Given the description of an element on the screen output the (x, y) to click on. 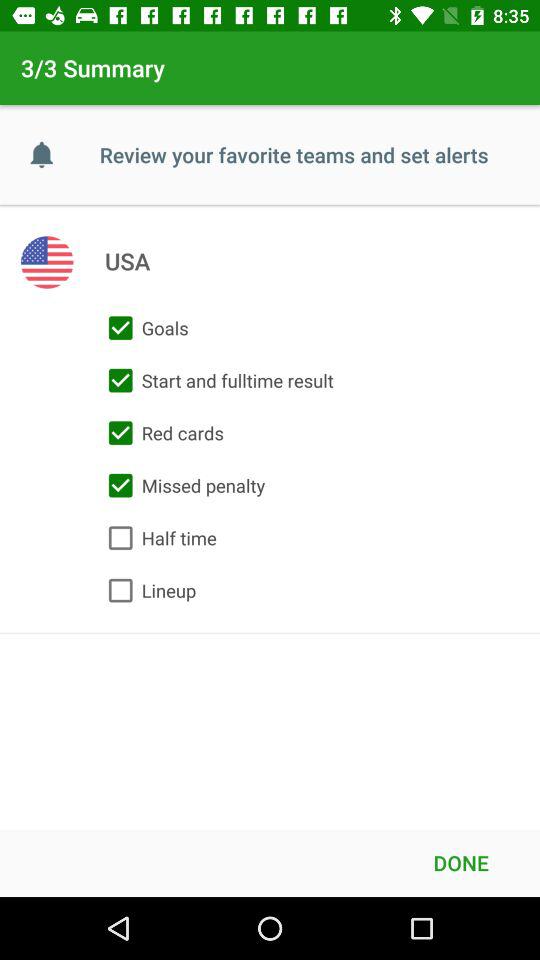
launch the item below half time (147, 590)
